Given the description of an element on the screen output the (x, y) to click on. 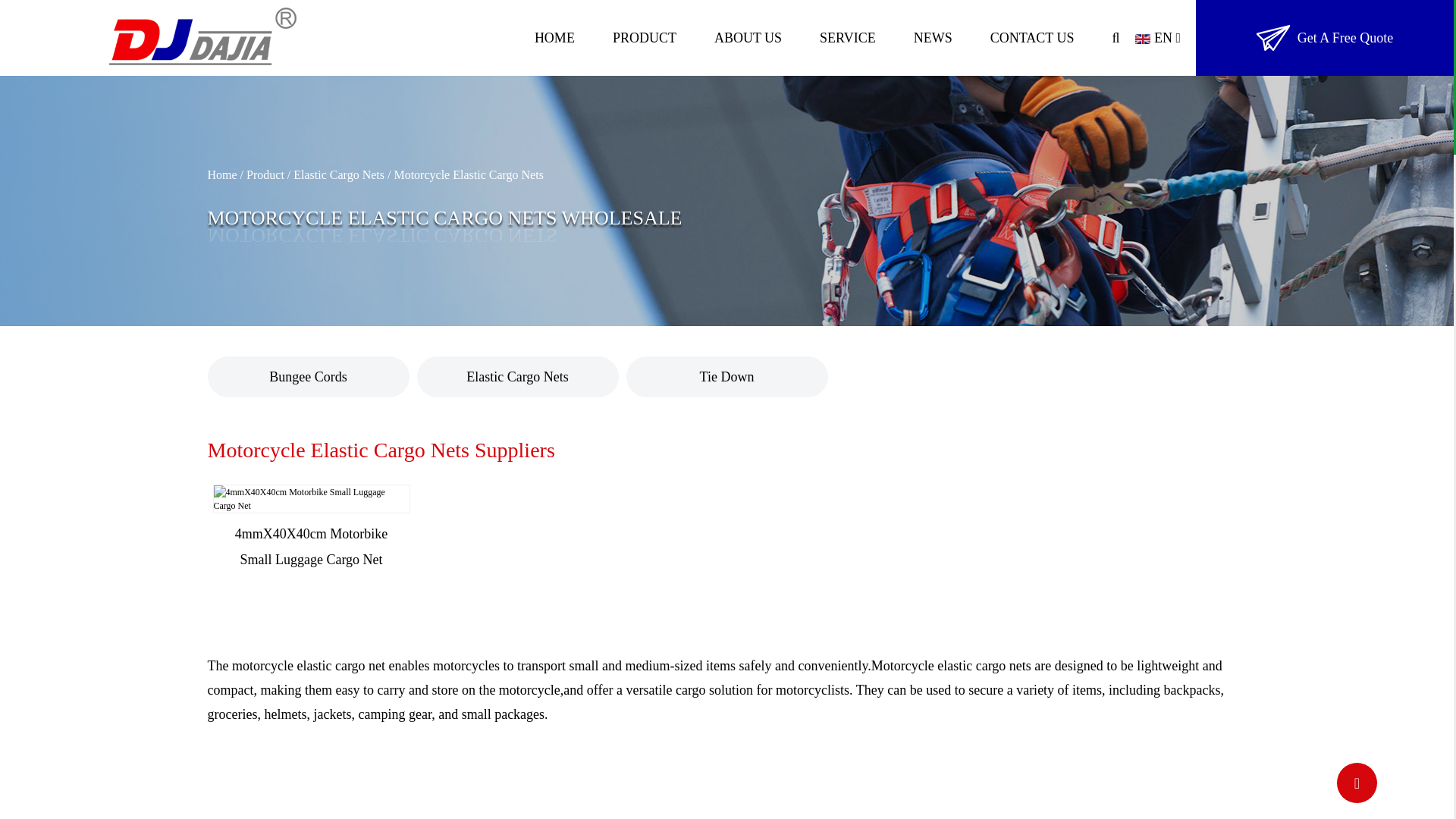
ABOUT US (747, 37)
CONTACT US (1032, 37)
4mmX40X40cm Motorbike Small Luggage Cargo Net (311, 498)
